Given the description of an element on the screen output the (x, y) to click on. 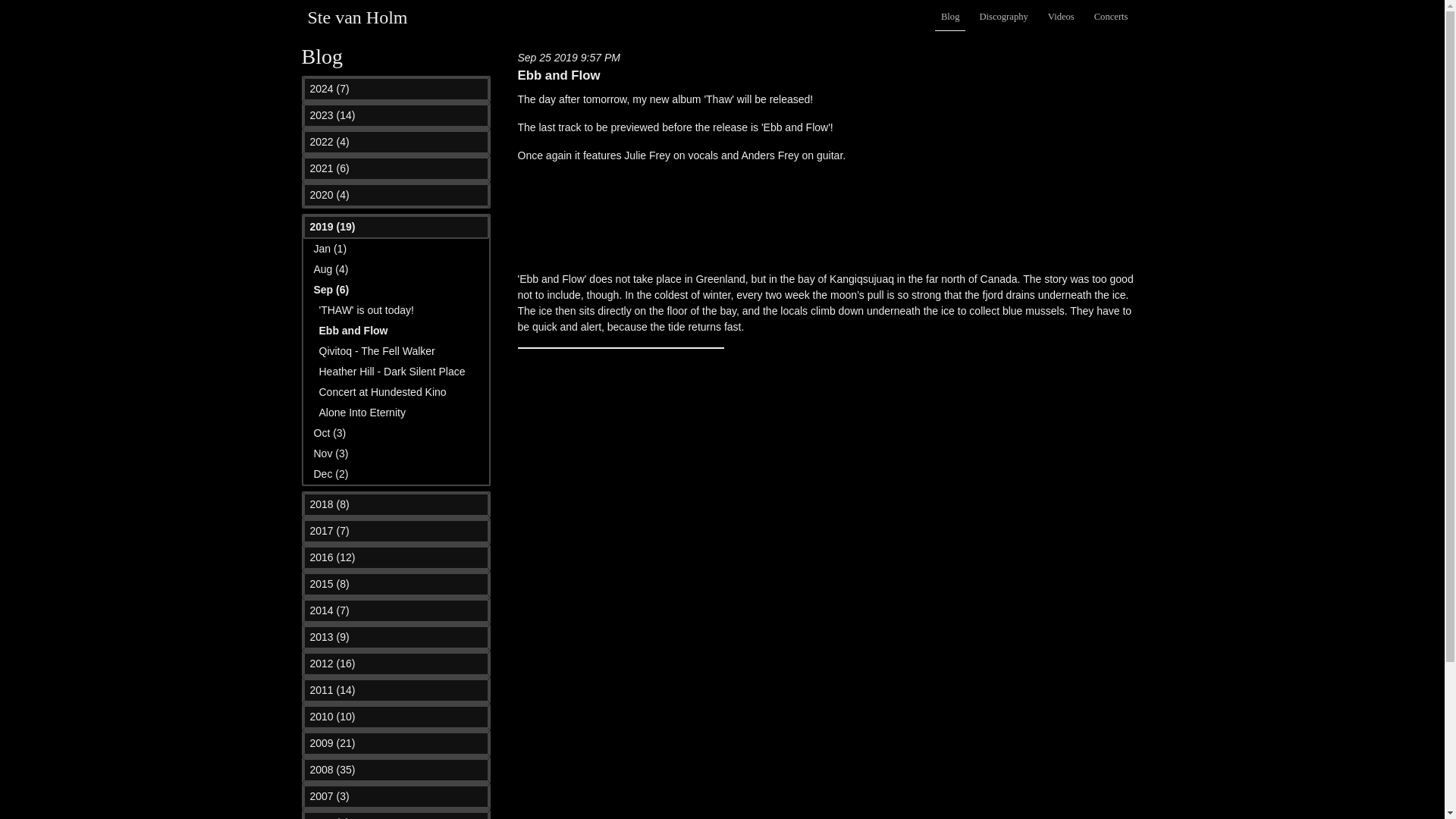
Ste van Holm (357, 17)
Videos (1061, 17)
'THAW' is out today! (365, 309)
Concert at Hundested Kino (381, 391)
Heather Hill - Dark Silent Place (391, 371)
Alone Into Eternity (361, 412)
Discography (1002, 17)
Qivitoq - The Fell Walker (375, 350)
Concerts (1110, 17)
Ebb and Flow (352, 330)
